Given the description of an element on the screen output the (x, y) to click on. 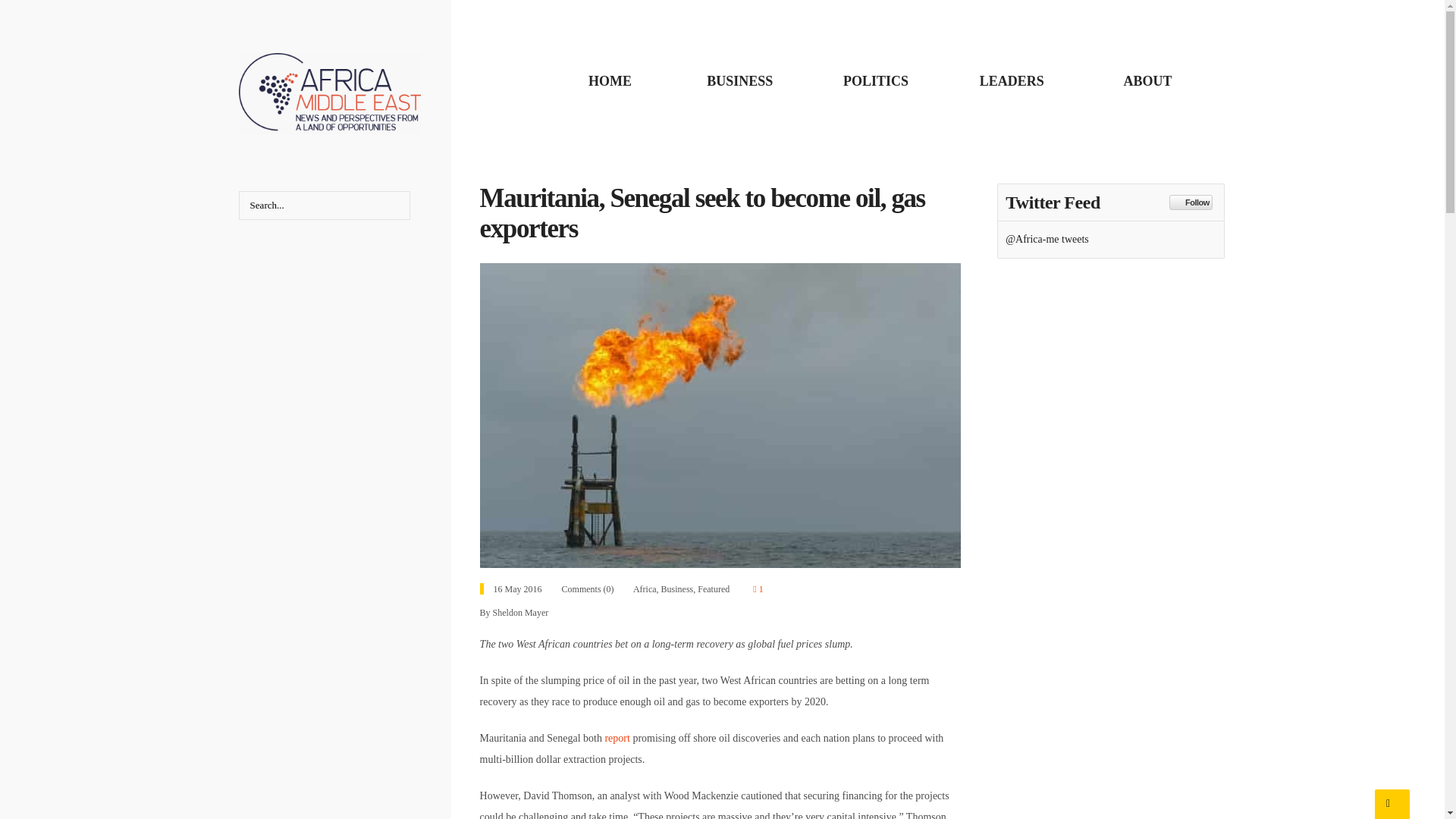
Posts by Sheldon Mayer (520, 612)
ABOUT (1147, 80)
Business (677, 588)
Africa (644, 588)
BUSINESS (739, 80)
report (616, 737)
 1 (757, 588)
POLITICS (875, 80)
Search... (324, 205)
Sheldon Mayer (520, 612)
